Given the description of an element on the screen output the (x, y) to click on. 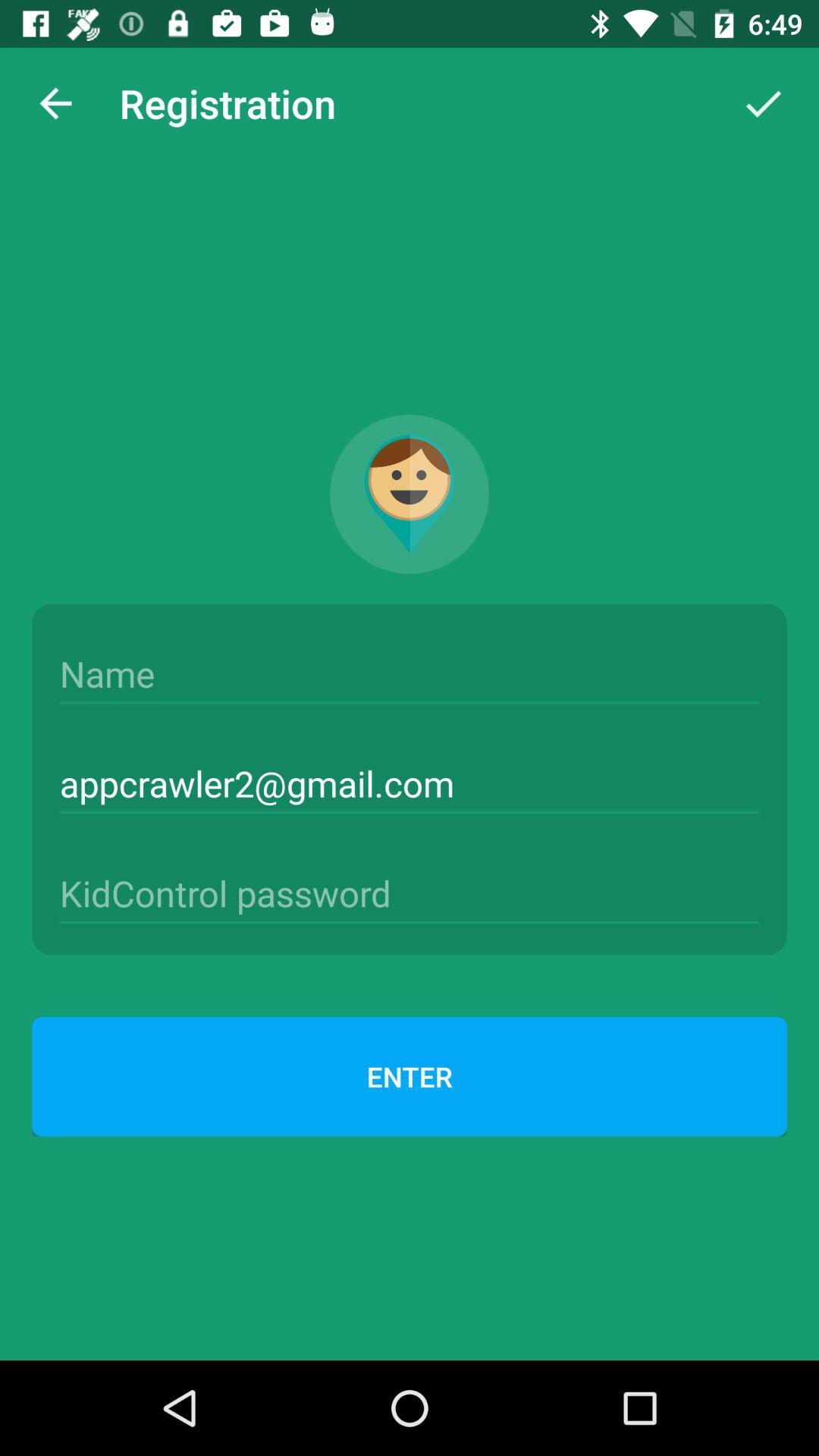
add name to register (409, 674)
